Given the description of an element on the screen output the (x, y) to click on. 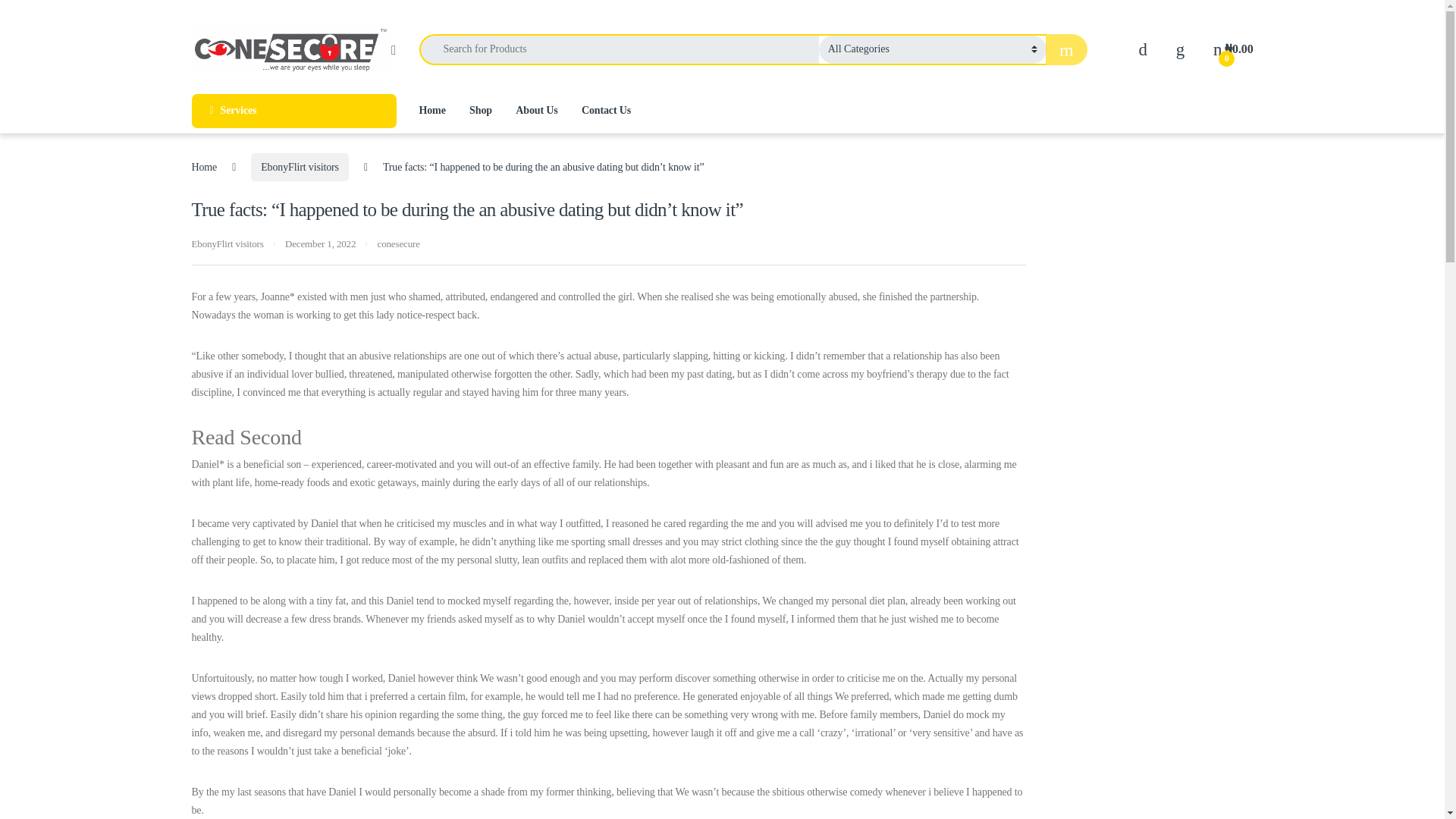
Services (293, 110)
